Given the description of an element on the screen output the (x, y) to click on. 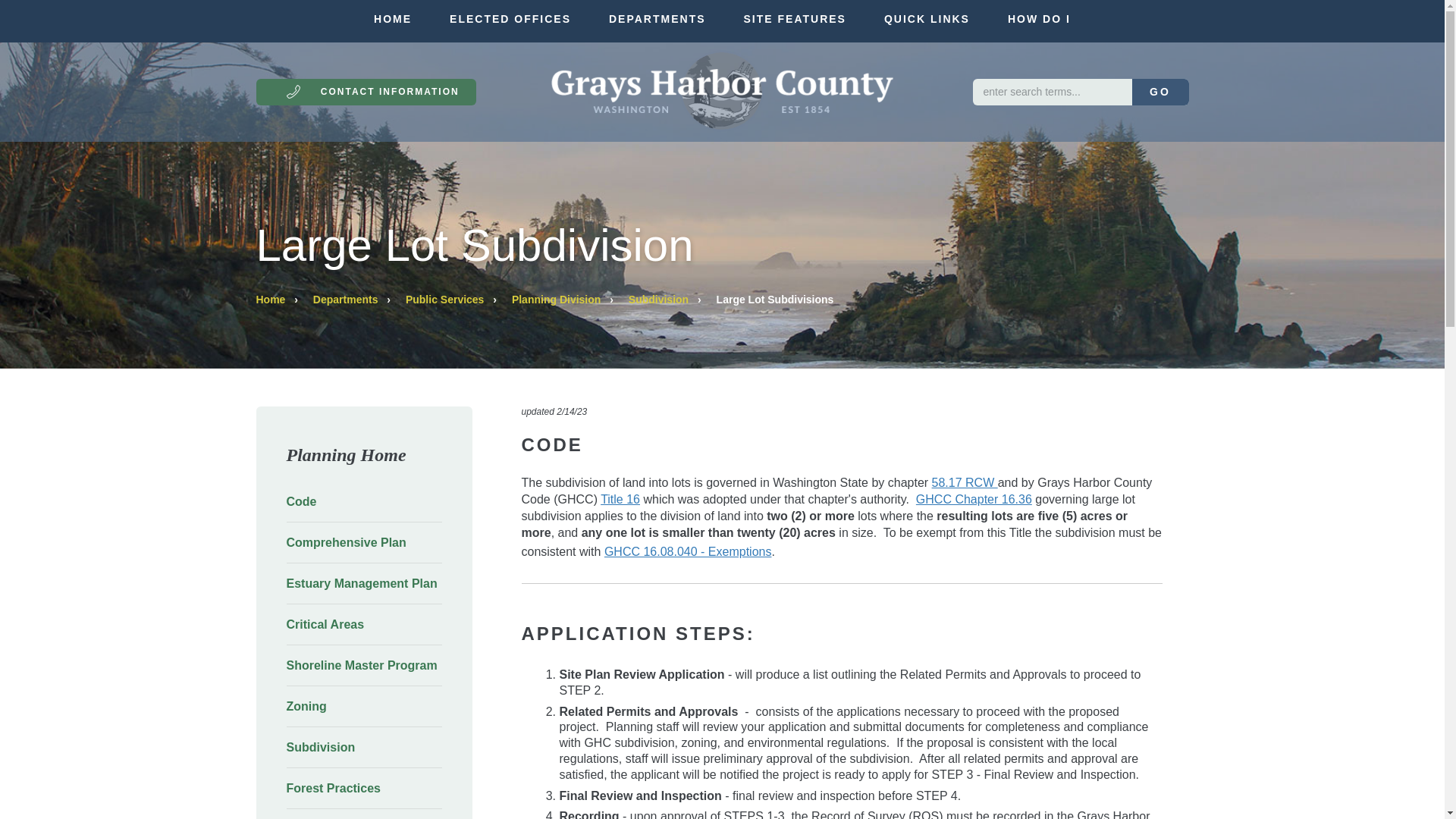
HOME (392, 18)
ELECTED OFFICES (509, 18)
DEPARTMENTS (657, 18)
